Given the description of an element on the screen output the (x, y) to click on. 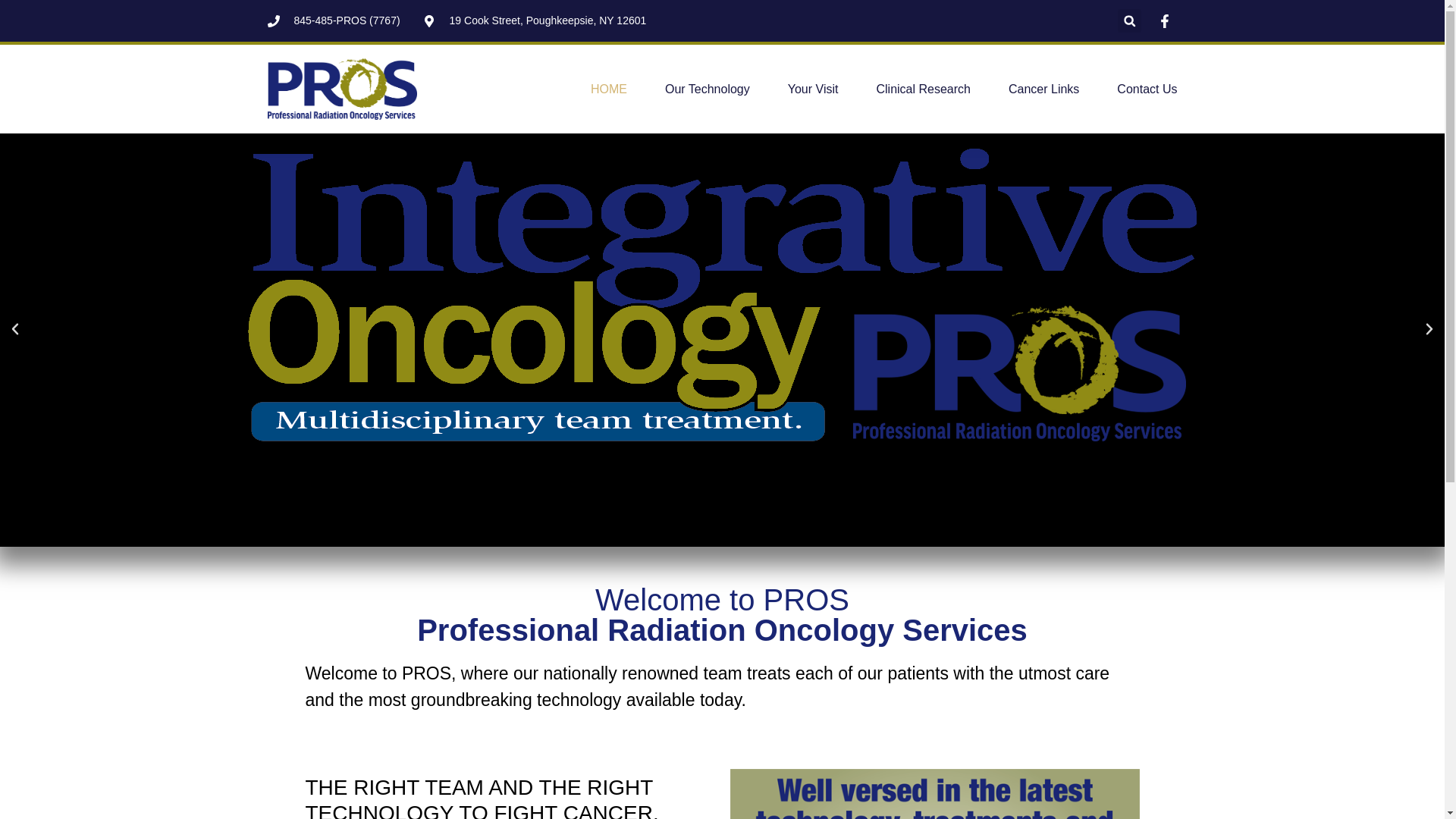
HOME (609, 88)
Your Visit (812, 88)
Clinical Research (923, 88)
Our Technology (707, 88)
Contact Us (1146, 88)
Cancer Links (1043, 88)
